Given the description of an element on the screen output the (x, y) to click on. 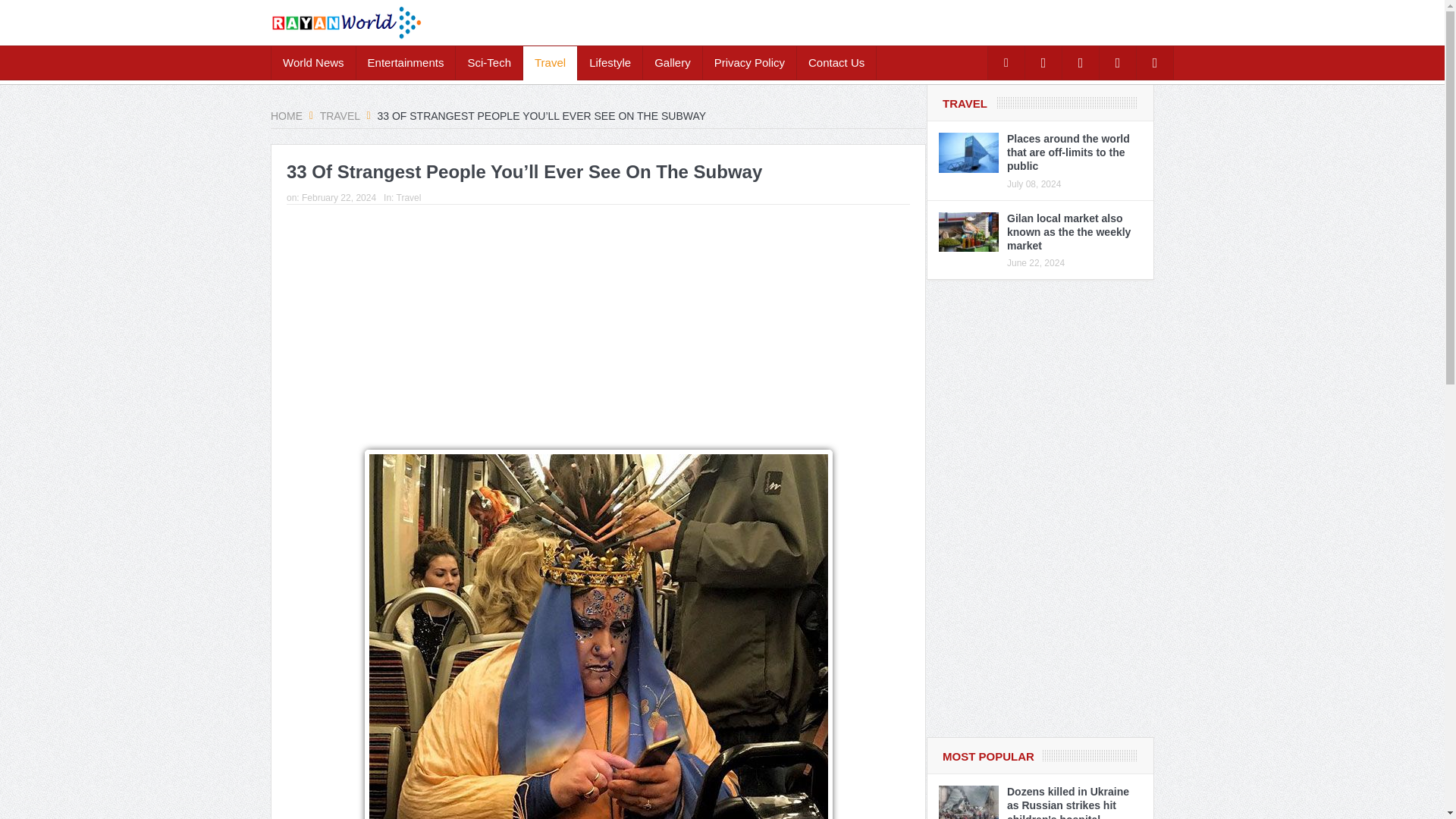
Lifestyle (610, 62)
Gallery (672, 62)
Travel (549, 62)
TRAVEL (341, 115)
World News (312, 62)
Advertisement (598, 318)
TRAVEL (964, 103)
Travel (409, 197)
View all posts in Travel (409, 197)
Contact Us (836, 62)
Entertainments (405, 62)
Travel (341, 115)
HOME (287, 115)
Sci-Tech (488, 62)
Privacy Policy (749, 62)
